Given the description of an element on the screen output the (x, y) to click on. 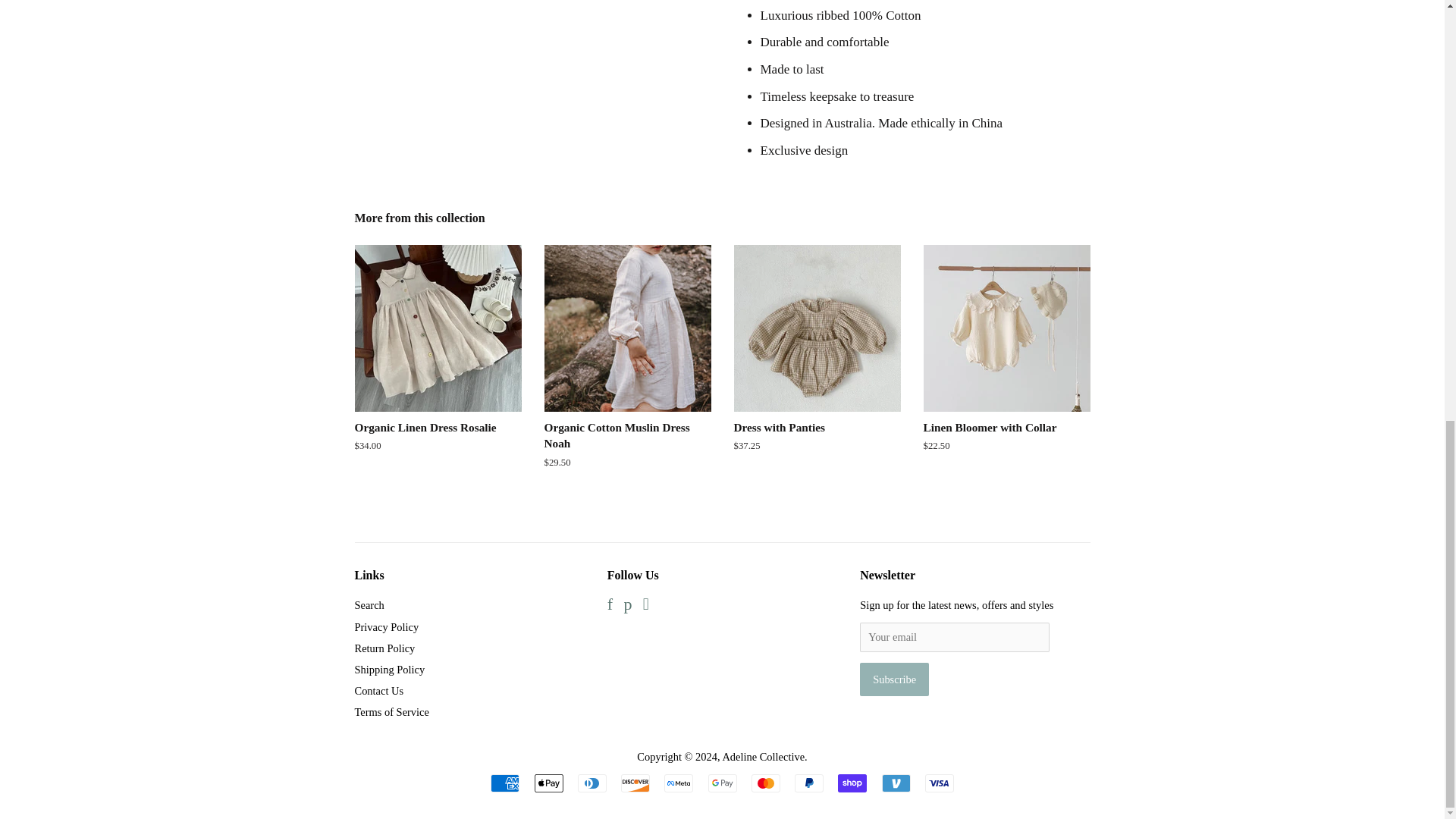
Shop Pay (852, 782)
Meta Pay (678, 782)
Diners Club (592, 782)
Discover (635, 782)
Apple Pay (548, 782)
Visa (938, 782)
PayPal (809, 782)
Mastercard (765, 782)
American Express (504, 782)
Google Pay (721, 782)
Subscribe (894, 679)
Venmo (895, 782)
